Given the description of an element on the screen output the (x, y) to click on. 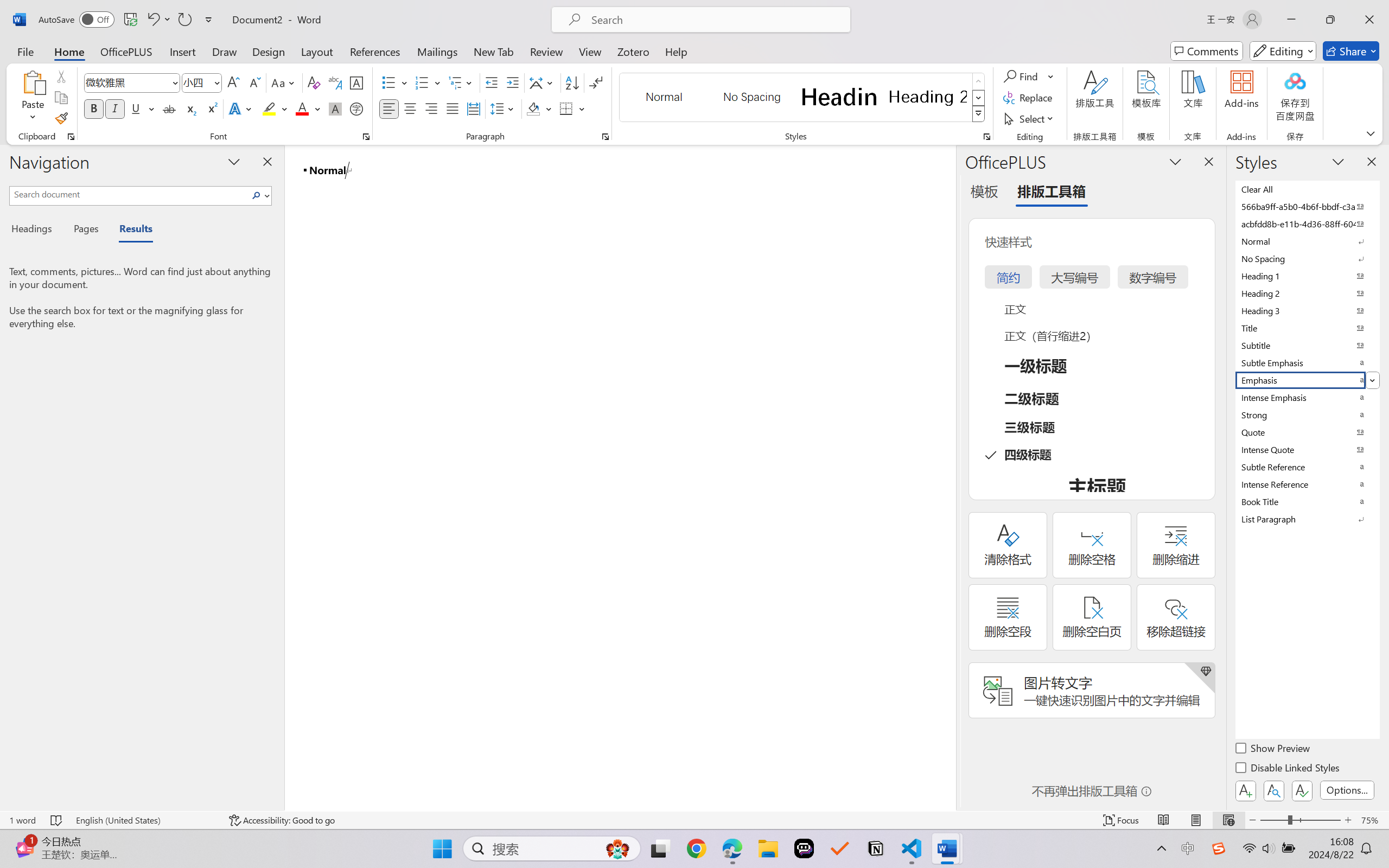
Font (132, 82)
Italic (115, 108)
Text Effects and Typography (241, 108)
Help (675, 51)
Normal (1306, 240)
Replace... (1029, 97)
Font Color Red (302, 108)
Subscript (190, 108)
Language English (United States) (144, 819)
Underline (135, 108)
Bullets (395, 82)
Cut (60, 75)
